Given the description of an element on the screen output the (x, y) to click on. 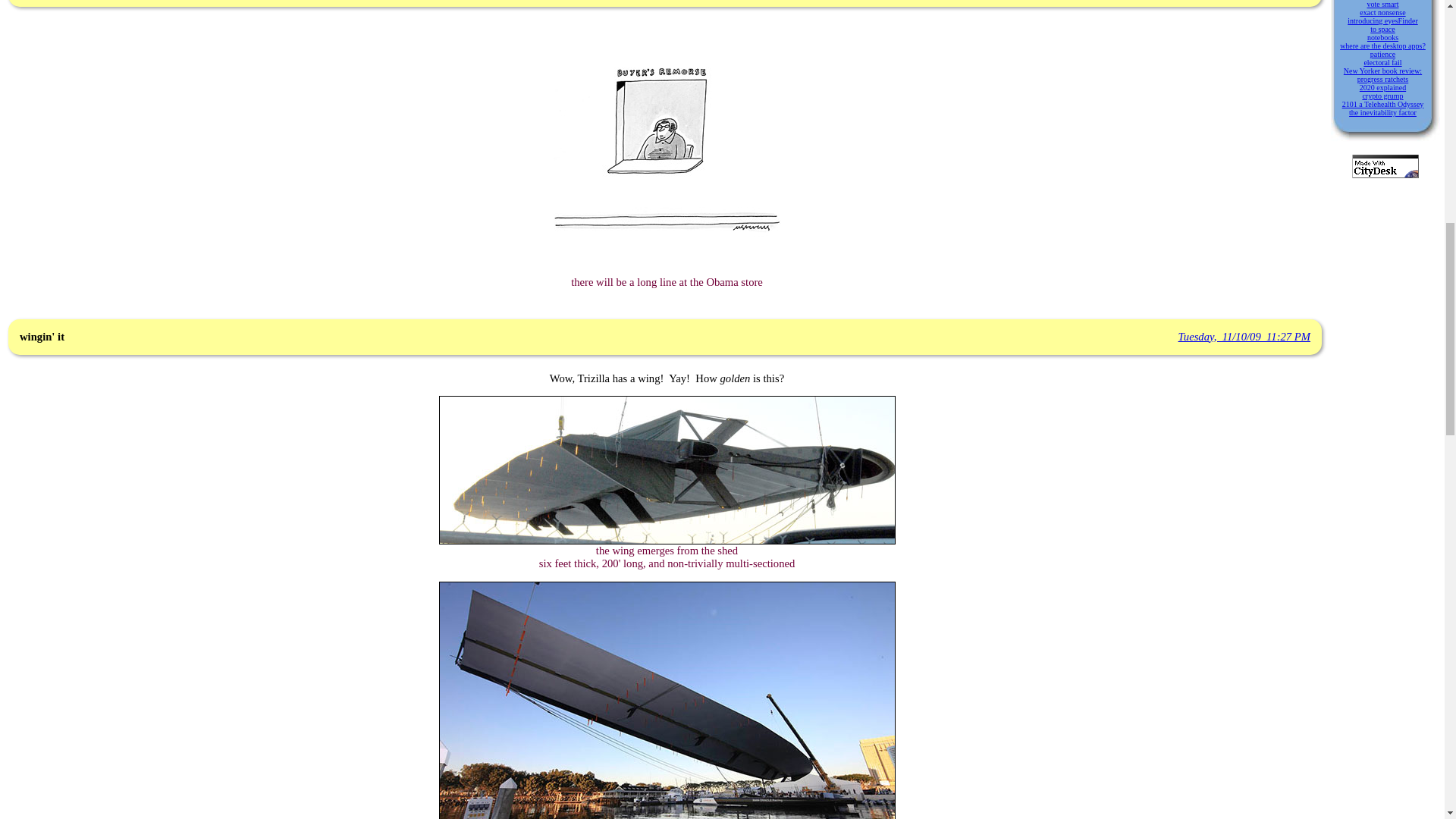
Permalink (1243, 336)
